Given the description of an element on the screen output the (x, y) to click on. 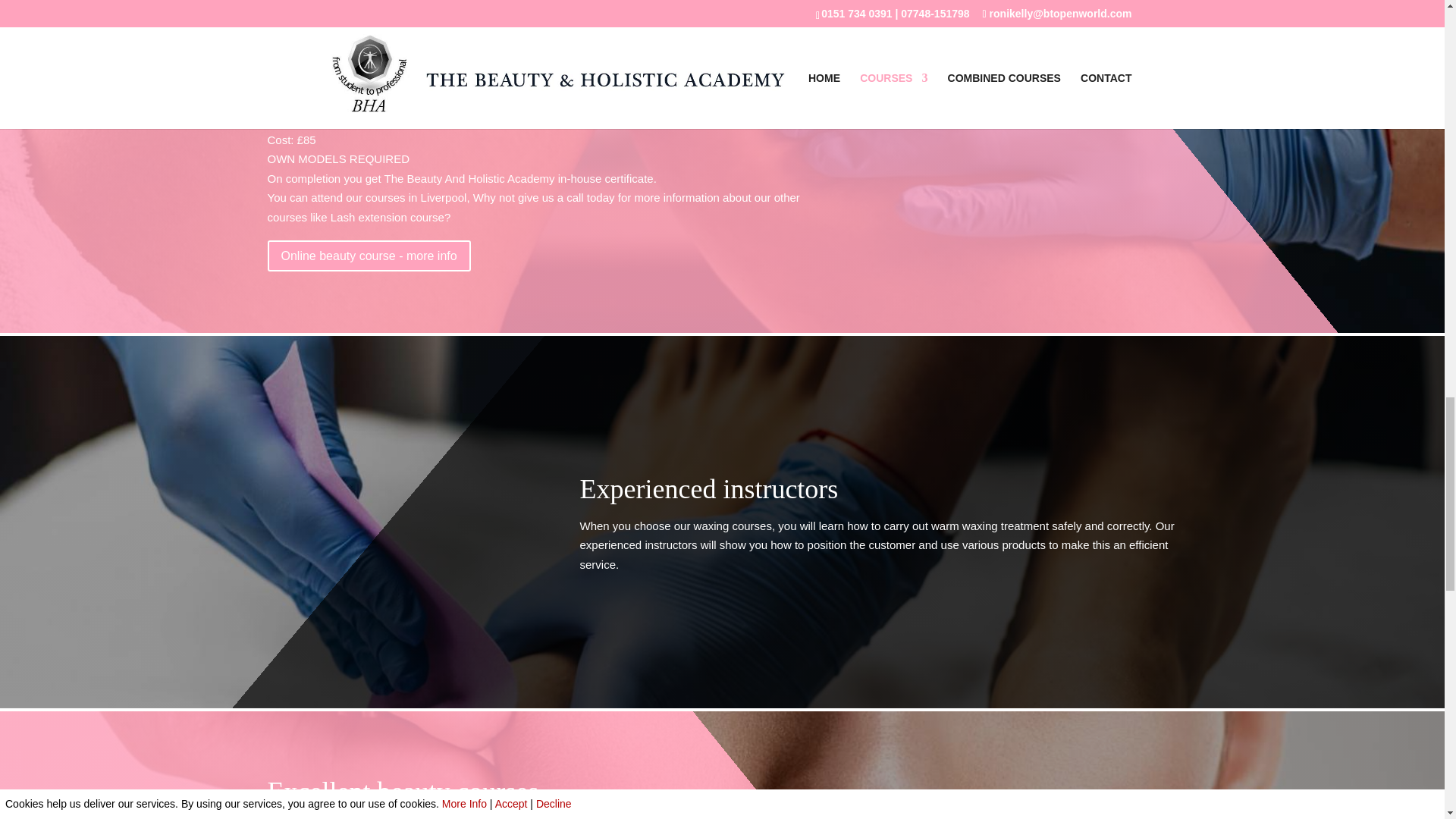
Online beauty course - more info (368, 255)
